Given the description of an element on the screen output the (x, y) to click on. 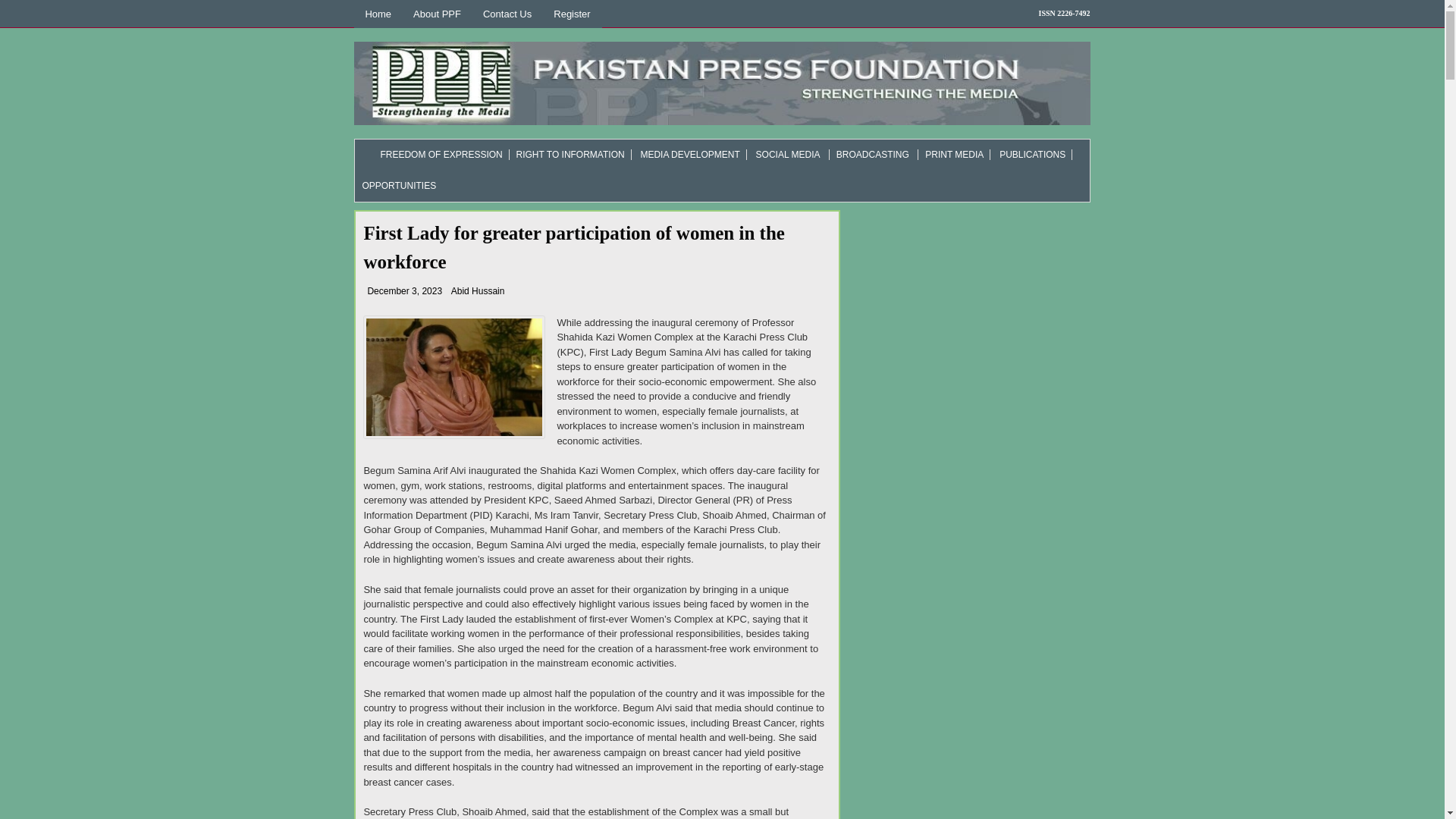
PRINT MEDIA (954, 154)
BROADCASTING (872, 154)
FREEDOM OF EXPRESSION (432, 154)
Home (378, 13)
Register (572, 13)
RIGHT TO INFORMATION (570, 154)
SOCIAL MEDIA (788, 154)
Paksitan Press Foundtion (721, 83)
MEDIA DEVELOPMENT (689, 154)
Pakistan Press Foundation (453, 376)
